Given the description of an element on the screen output the (x, y) to click on. 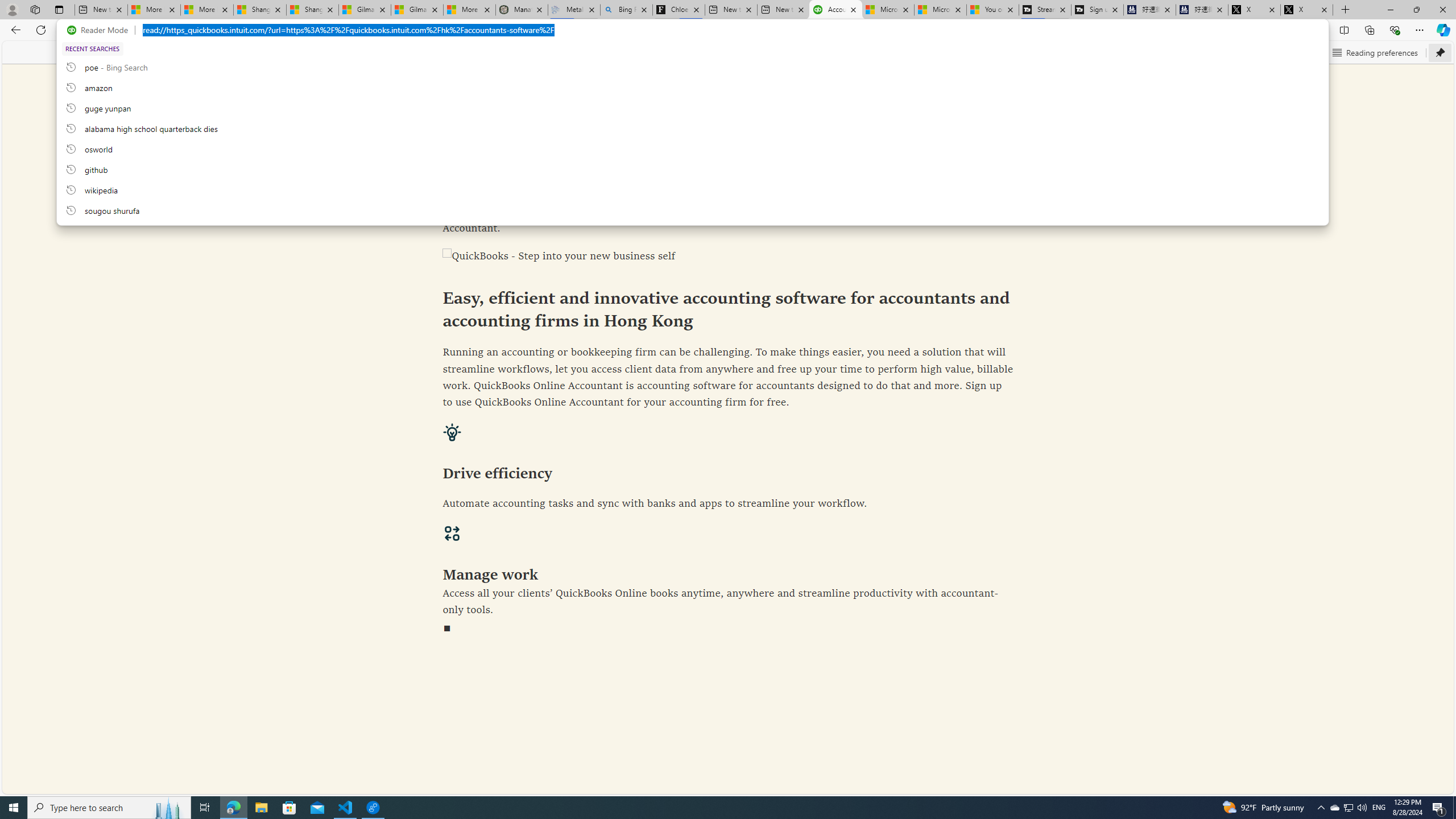
QuickBooks - Step into your new business self (727, 256)
poe, recent searches from history (691, 66)
Chloe Sorvino (678, 9)
Microsoft Start Sports (887, 9)
wikipedia, recent searches from history (691, 189)
sougou shurufa, recent searches from history (691, 209)
Text preferences (1283, 52)
